Given the description of an element on the screen output the (x, y) to click on. 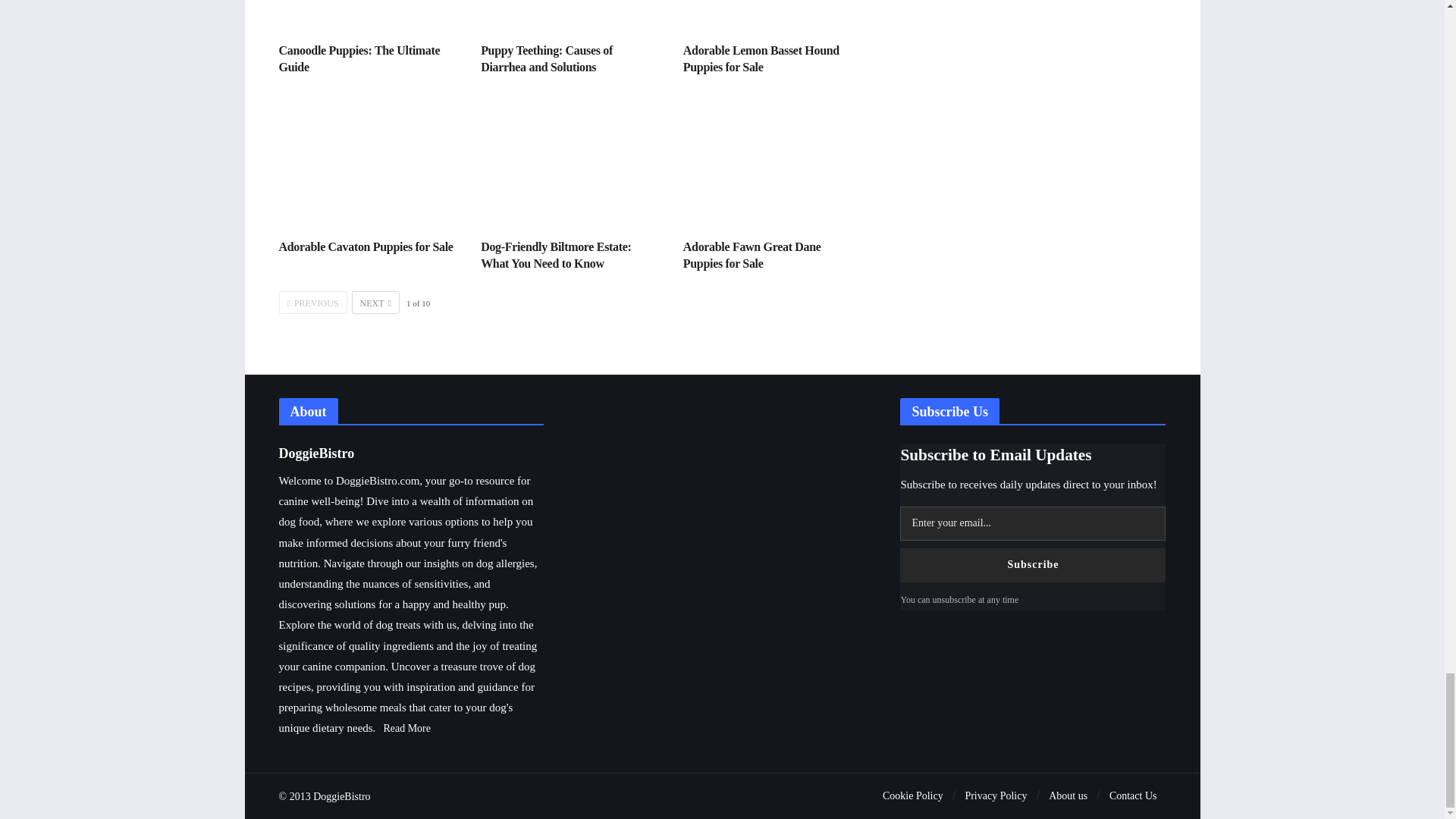
Adorable Lemon Basset Hound Puppies for Sale (761, 58)
Dog-Friendly Biltmore Estate: What You Need to Know (570, 162)
Canoodle Puppies: The Ultimate Guide (360, 58)
NEXT (375, 302)
Adorable Cavaton Puppies for Sale (365, 246)
Adorable Cavaton Puppies for Sale (368, 162)
Previous (313, 302)
Dog-Friendly Biltmore Estate: What You Need to Know (555, 255)
Adorable Lemon Basset Hound Puppies for Sale (772, 15)
Dog-Friendly Biltmore Estate: What You Need to Know (555, 255)
